Given the description of an element on the screen output the (x, y) to click on. 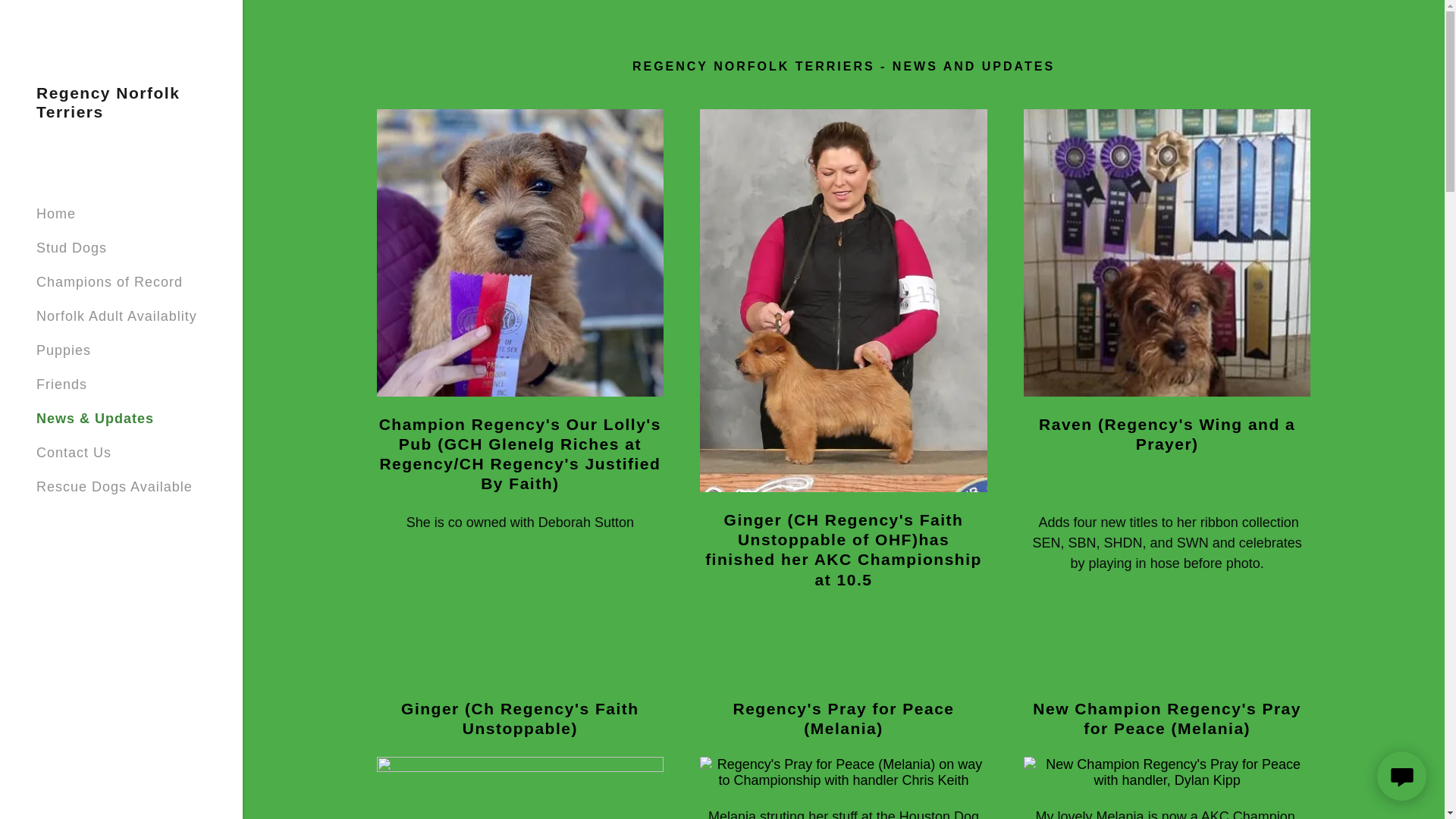
Stud Dogs (71, 247)
Home (55, 213)
Contact Us (74, 452)
Friends (61, 384)
Regency Norfolk Terriers (121, 112)
Norfolk Adult Availablity (116, 315)
Champions of Record (109, 281)
Regency Norfolk Terriers (121, 112)
Rescue Dogs Available (114, 486)
Puppies (63, 350)
